Given the description of an element on the screen output the (x, y) to click on. 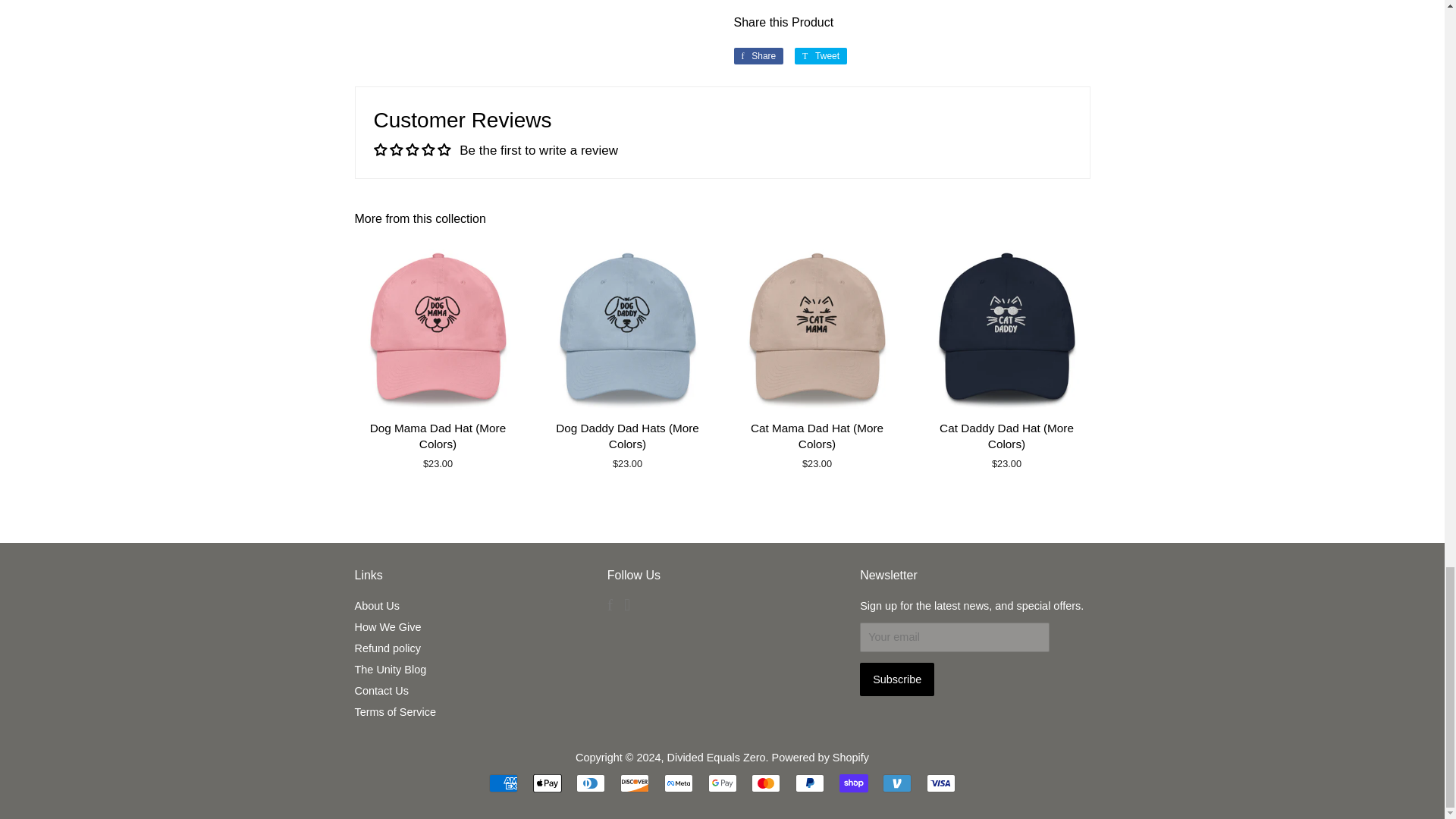
Mastercard (765, 782)
Shop Pay (853, 782)
Google Pay (721, 782)
Apple Pay (547, 782)
PayPal (809, 782)
Visa (940, 782)
Tweet on Twitter (820, 55)
Subscribe (897, 679)
Diners Club (590, 782)
American Express (503, 782)
Share on Facebook (758, 55)
Venmo (896, 782)
Discover (634, 782)
Meta Pay (678, 782)
